Given the description of an element on the screen output the (x, y) to click on. 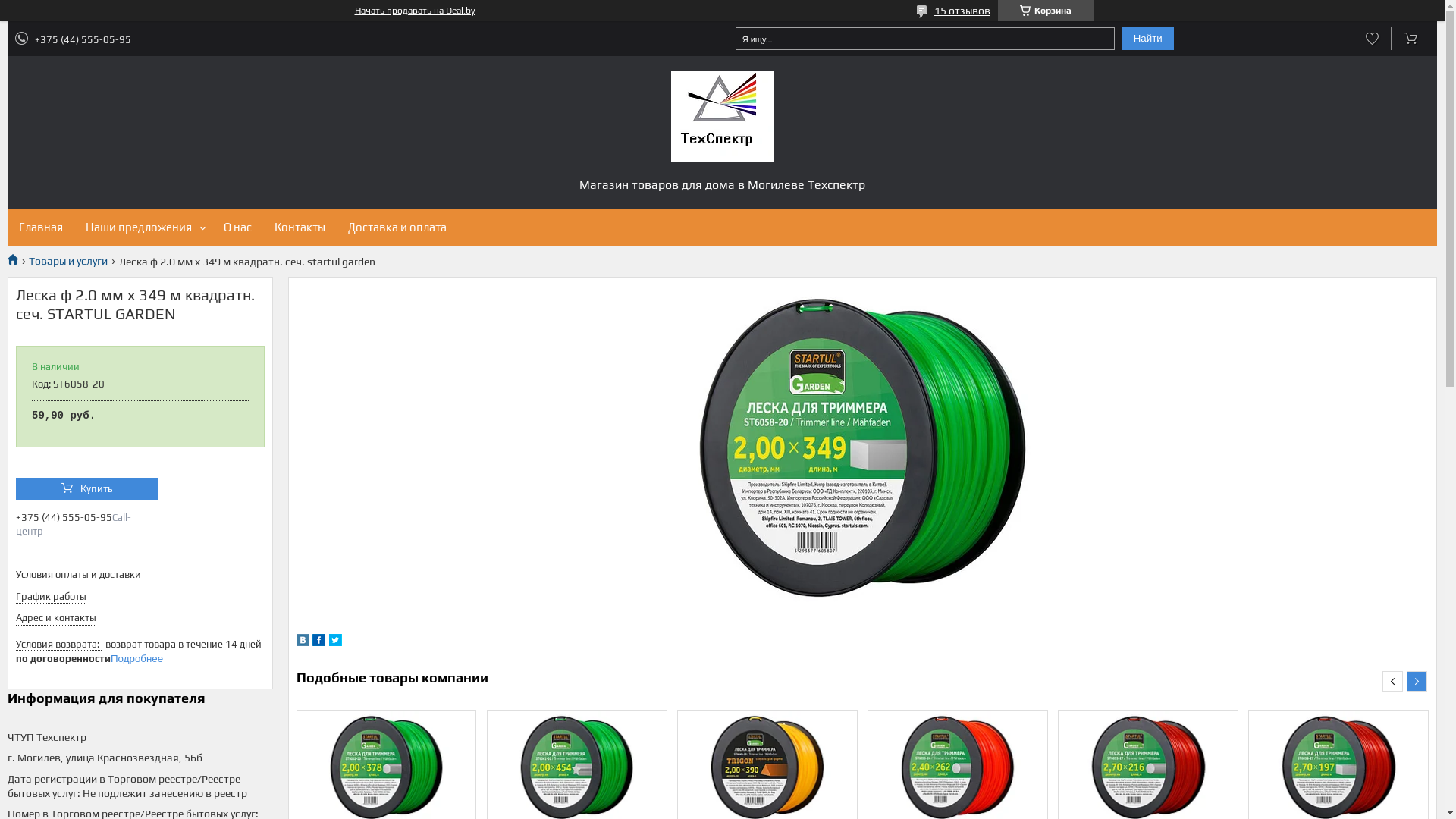
facebook Element type: hover (318, 642)
twitter Element type: hover (335, 642)
